Given the description of an element on the screen output the (x, y) to click on. 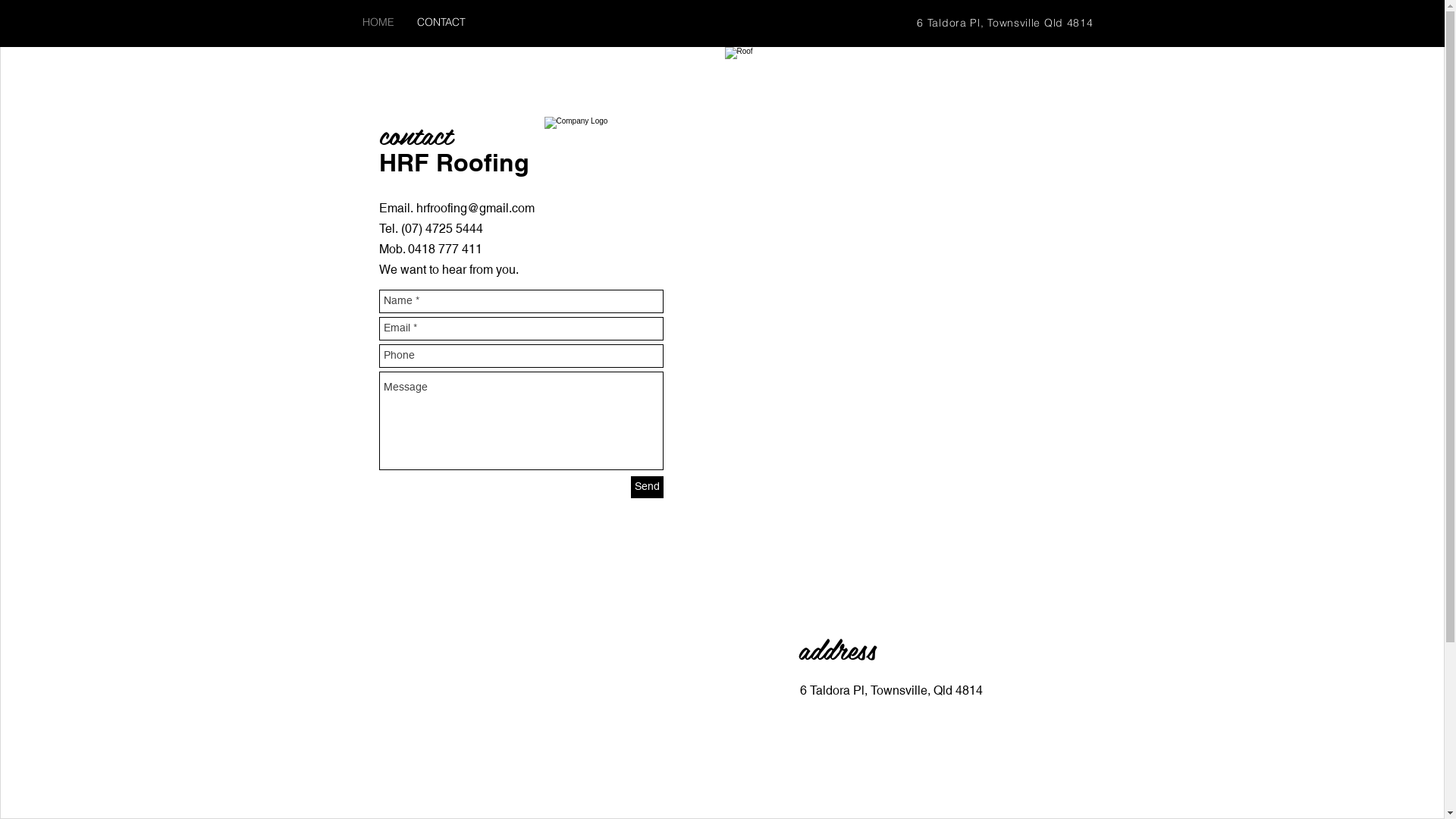
CONTACT Element type: text (440, 22)
Roof Element type: hover (909, 289)
Send Element type: text (646, 487)
hrfroofing@gmail.com Element type: text (474, 207)
Company Logo Element type: hover (617, 164)
HOME Element type: text (377, 22)
